Given the description of an element on the screen output the (x, y) to click on. 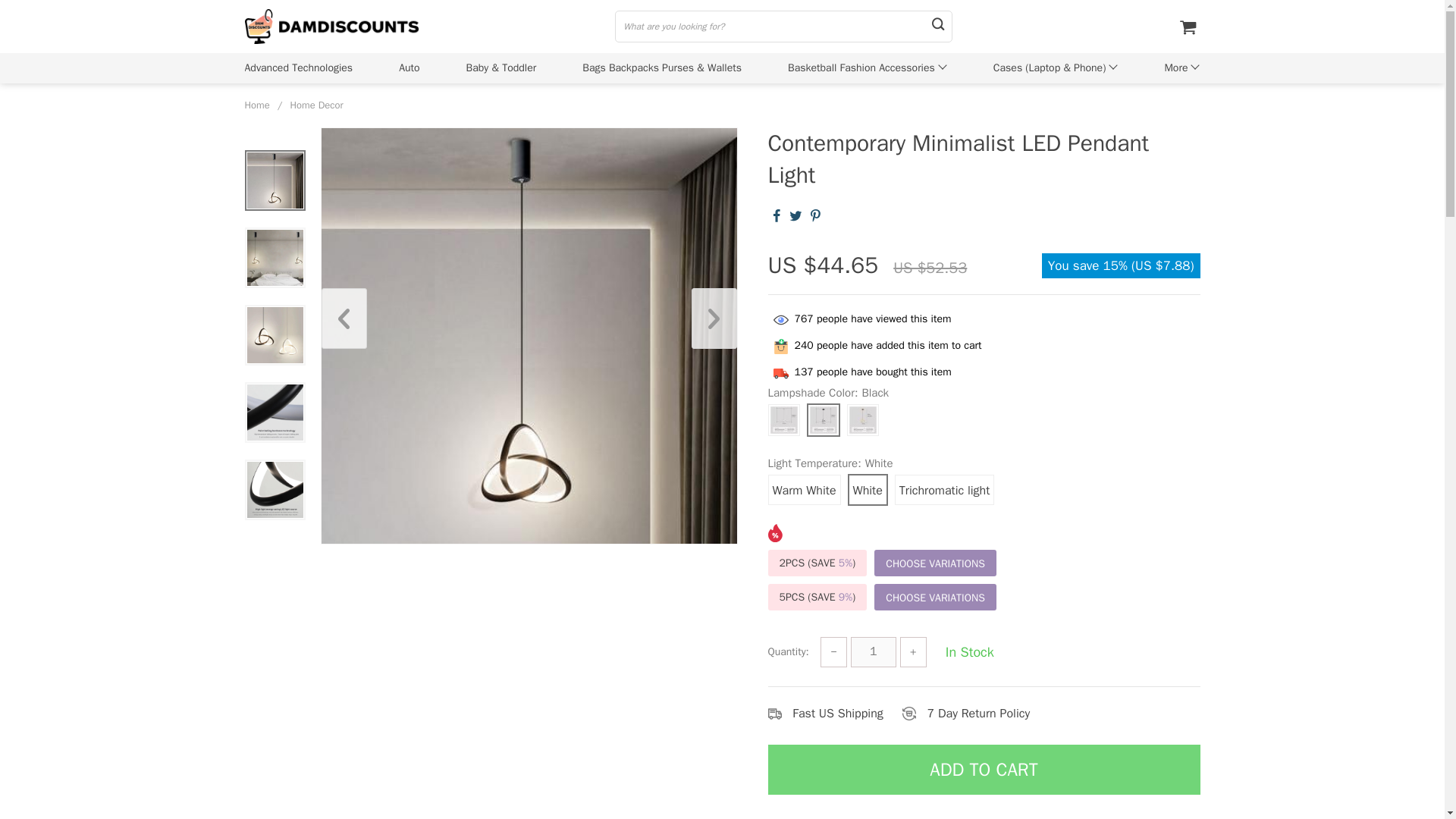
Advanced Technologies (298, 67)
44252-59ca30.jpg (274, 489)
44252-a28f5a.jpg (274, 257)
Auto (408, 67)
Basketball Fashion Accessories (860, 67)
1 (873, 652)
44252-b57dae.jpeg (274, 335)
Black (822, 419)
White (782, 419)
44252-d492b8.jpg (274, 412)
Gold (861, 419)
44252-60c77d.jpeg (274, 180)
